Given the description of an element on the screen output the (x, y) to click on. 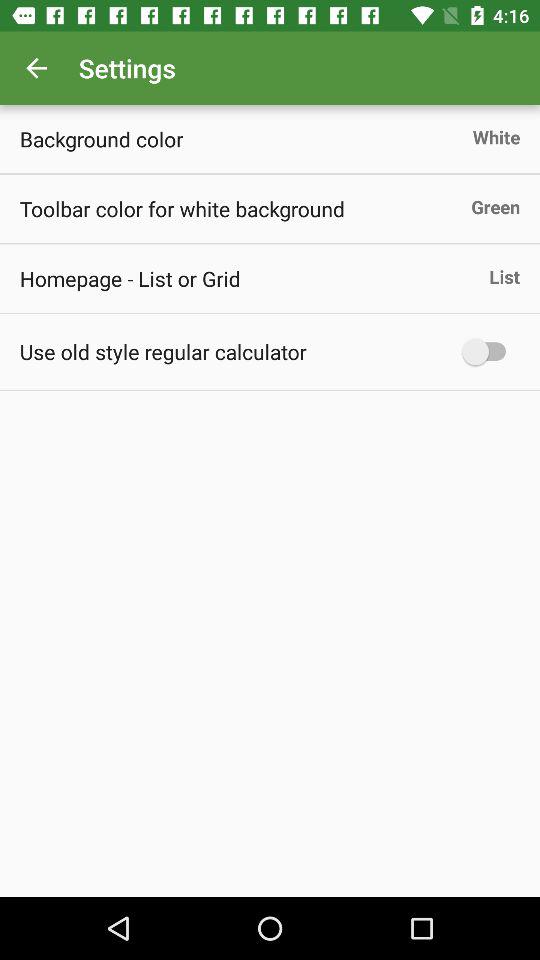
turn off icon to the left of the list icon (129, 278)
